Given the description of an element on the screen output the (x, y) to click on. 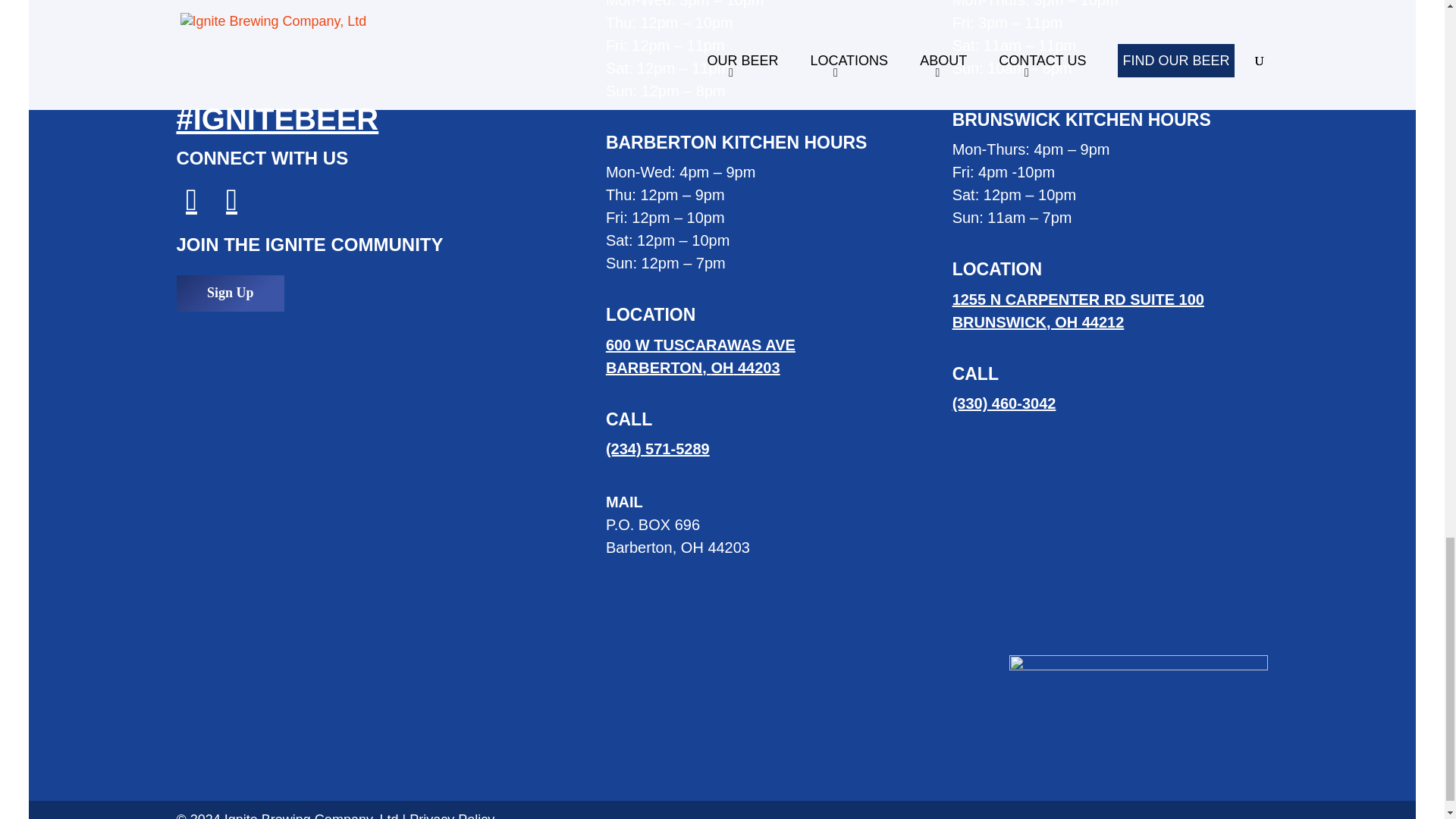
Privacy Policy (452, 815)
Follow on Facebook (1078, 310)
Sign Up (187, 200)
Follow on Instagram (699, 355)
igbc-logos (229, 293)
Group 106 (228, 200)
